Given the description of an element on the screen output the (x, y) to click on. 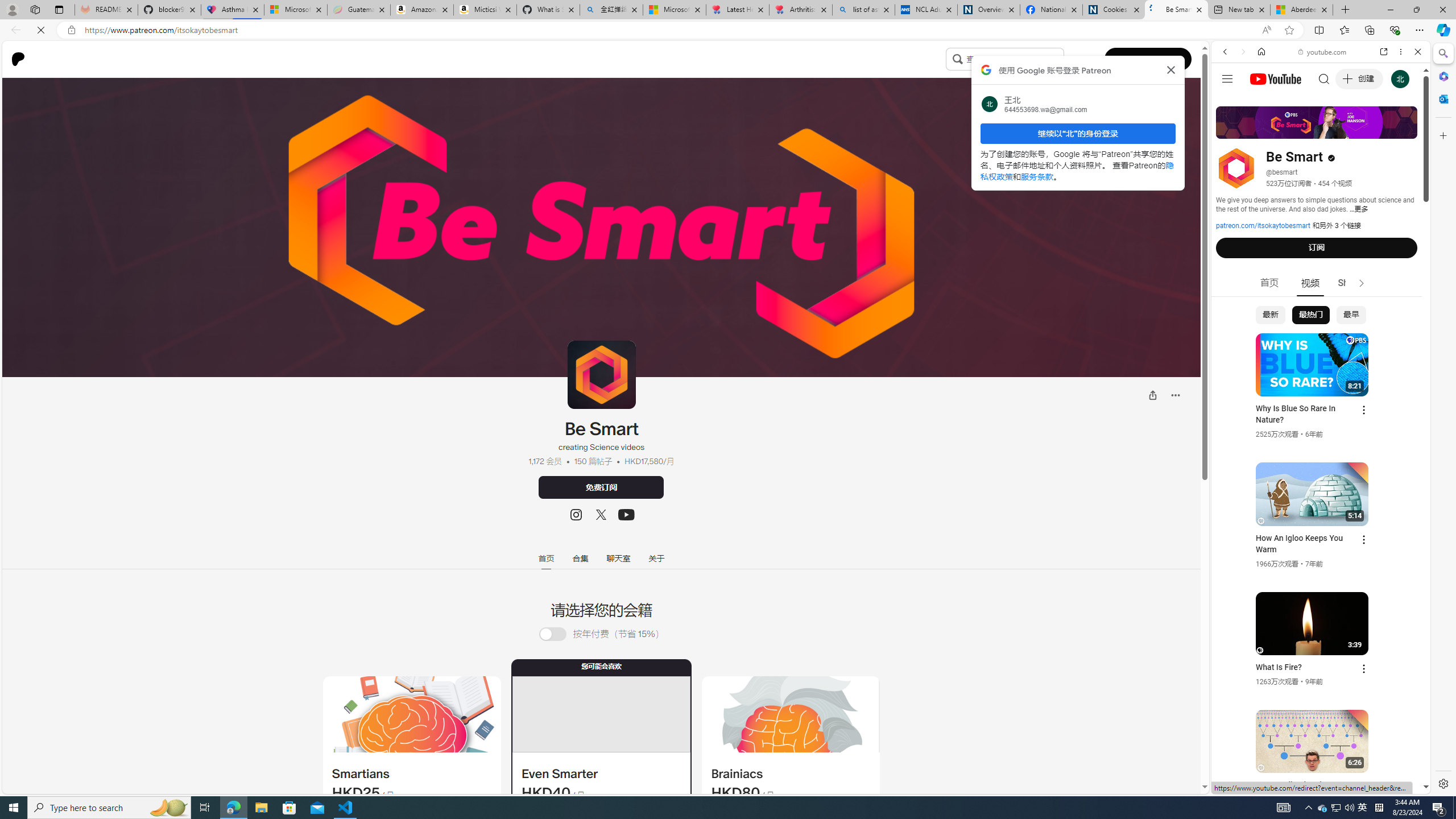
Loading (558, 633)
